Given the description of an element on the screen output the (x, y) to click on. 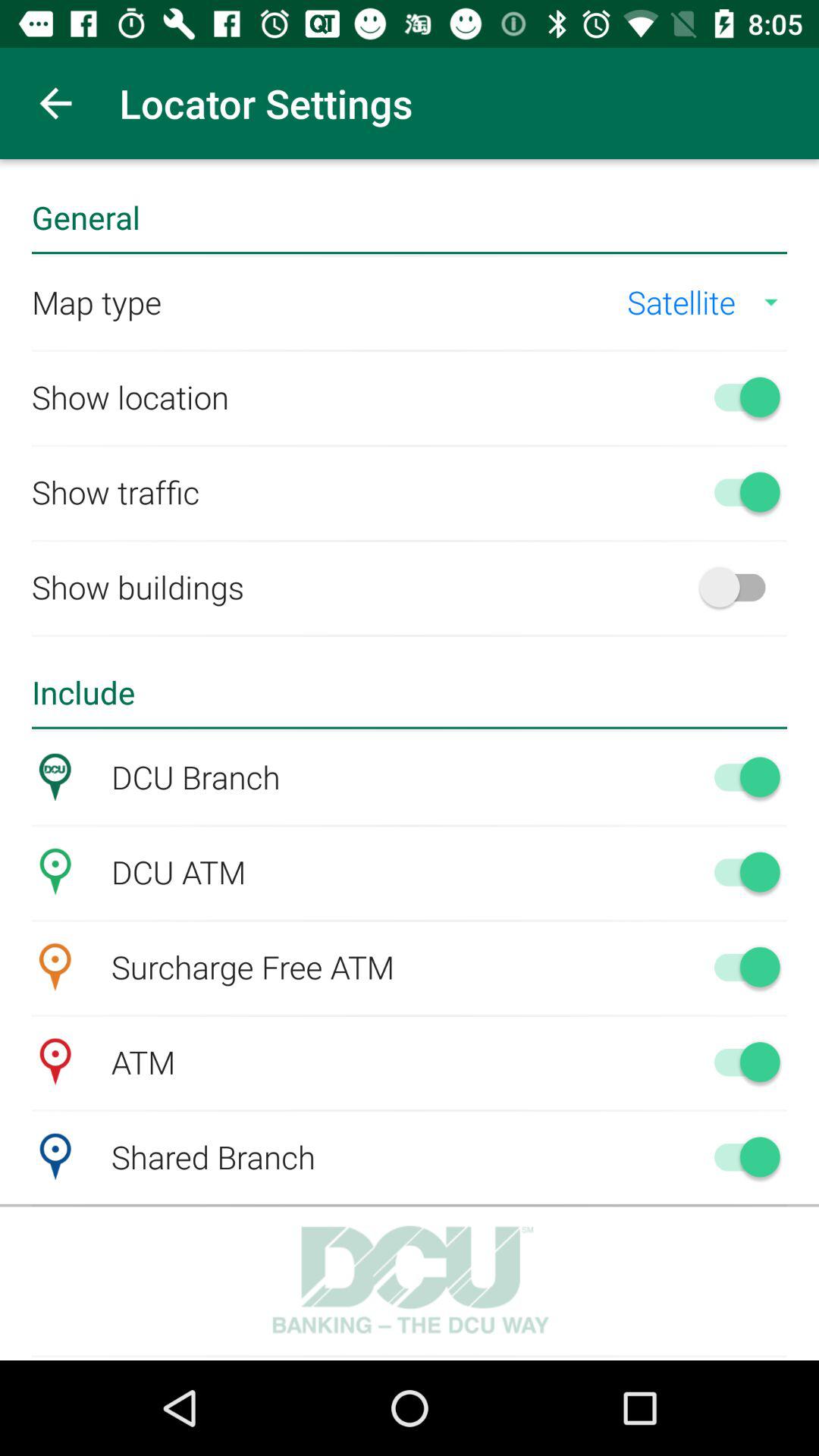
traffic indications on (739, 491)
